Given the description of an element on the screen output the (x, y) to click on. 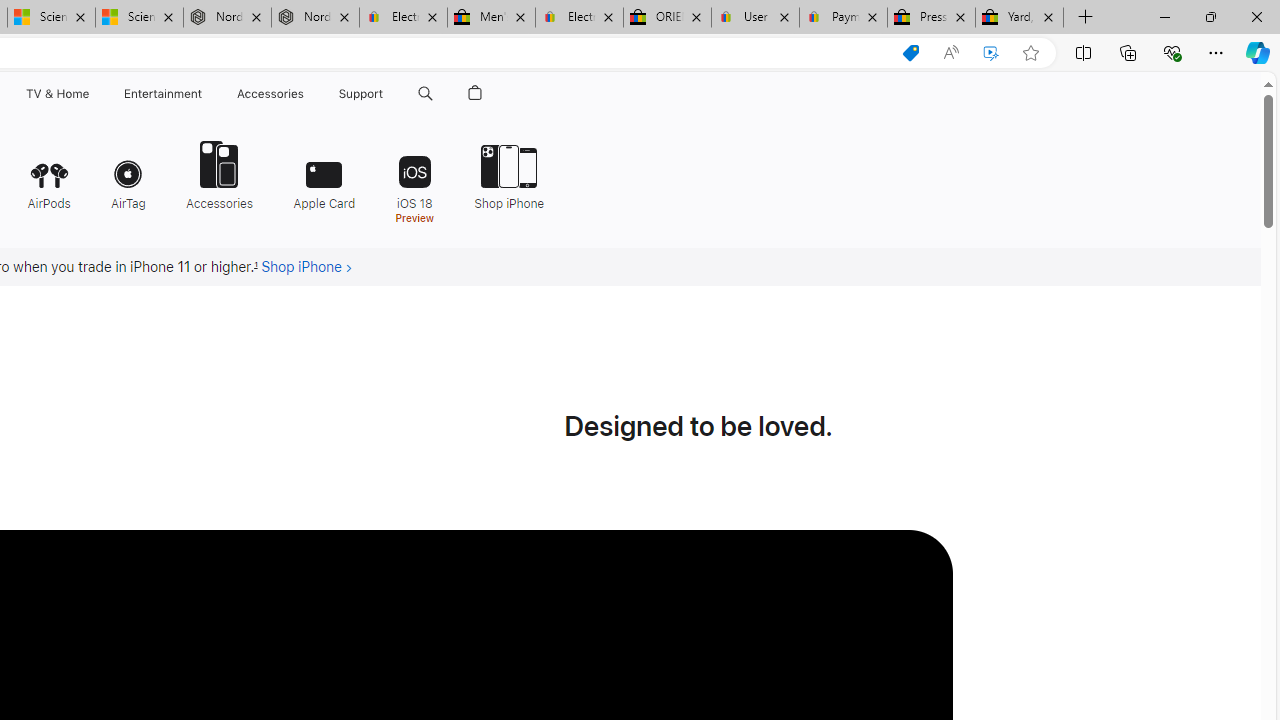
Support (361, 93)
Accessories menu (306, 93)
AirPods (48, 173)
Class: globalnav-item globalnav-search shift-0-1 (425, 93)
TV & Home (56, 93)
